Given the description of an element on the screen output the (x, y) to click on. 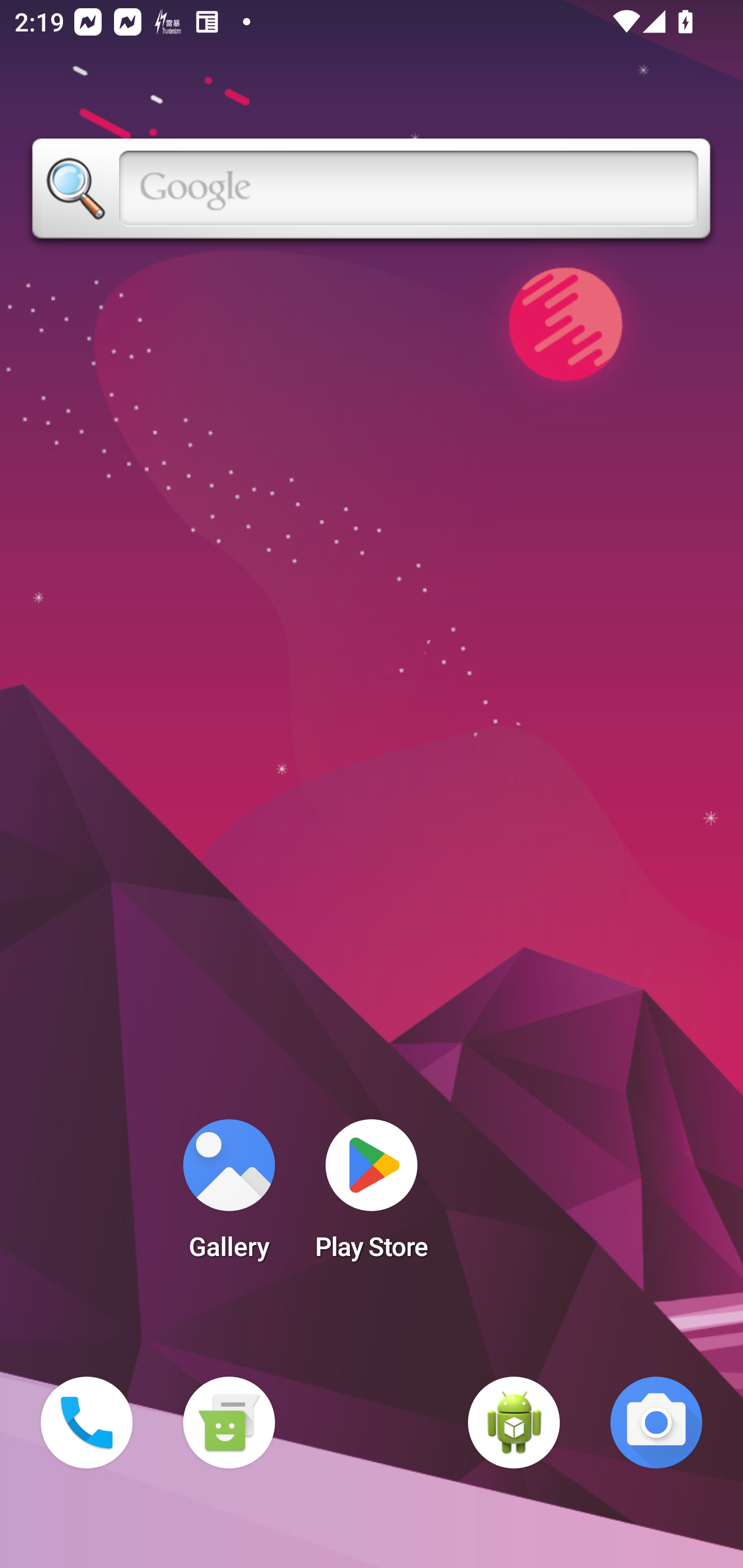
Gallery (228, 1195)
Play Store (371, 1195)
Phone (86, 1422)
Messaging (228, 1422)
WebView Browser Tester (513, 1422)
Camera (656, 1422)
